Given the description of an element on the screen output the (x, y) to click on. 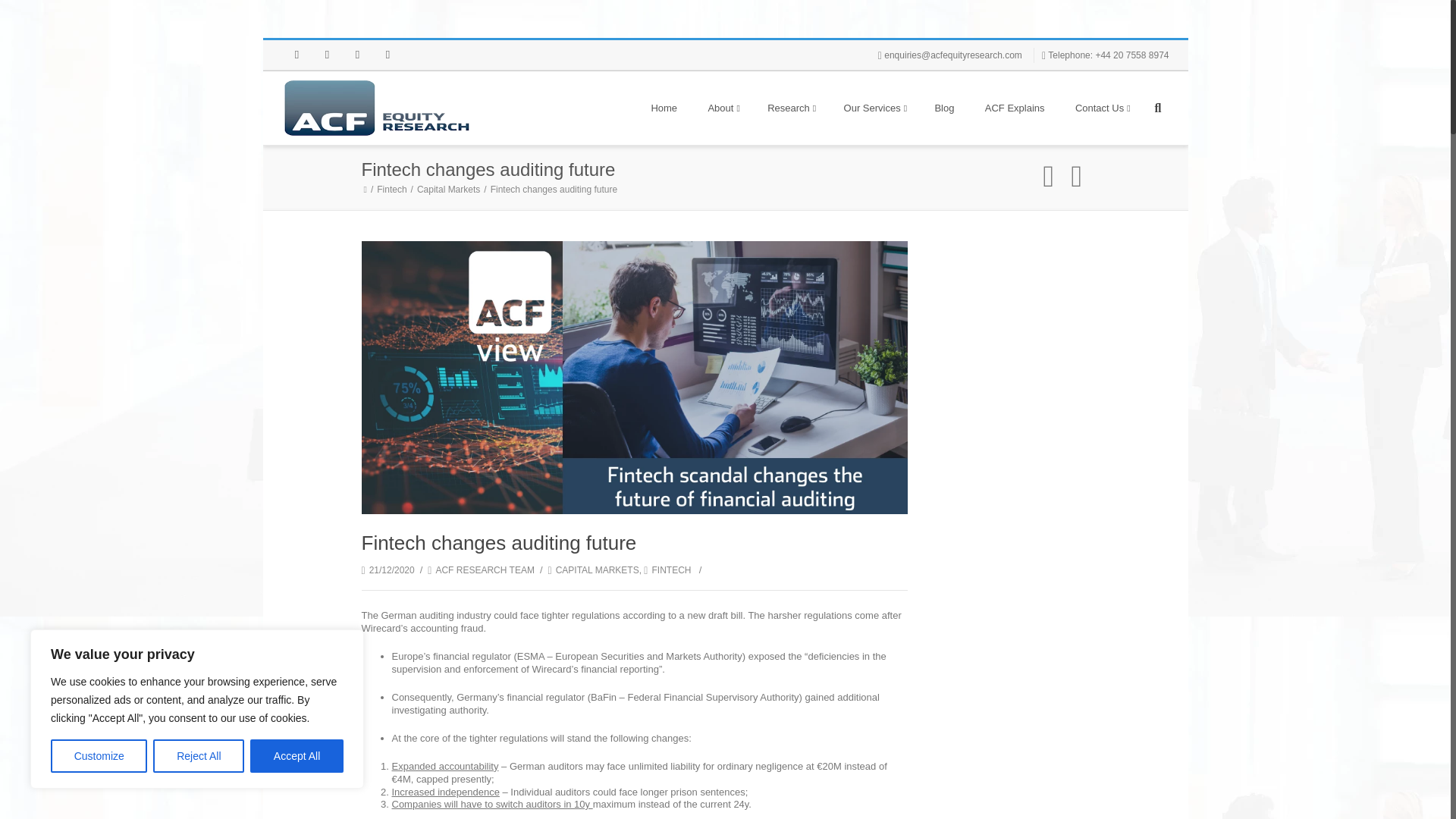
Customize (98, 756)
View all posts in Capital Markets (593, 570)
Home (663, 107)
About (722, 107)
Posts by ACF Research Team (484, 570)
Research (790, 107)
Reject All (198, 756)
Accept All (296, 756)
Fintech (393, 189)
View all posts in Fintech (666, 570)
Capital Markets (449, 189)
